Given the description of an element on the screen output the (x, y) to click on. 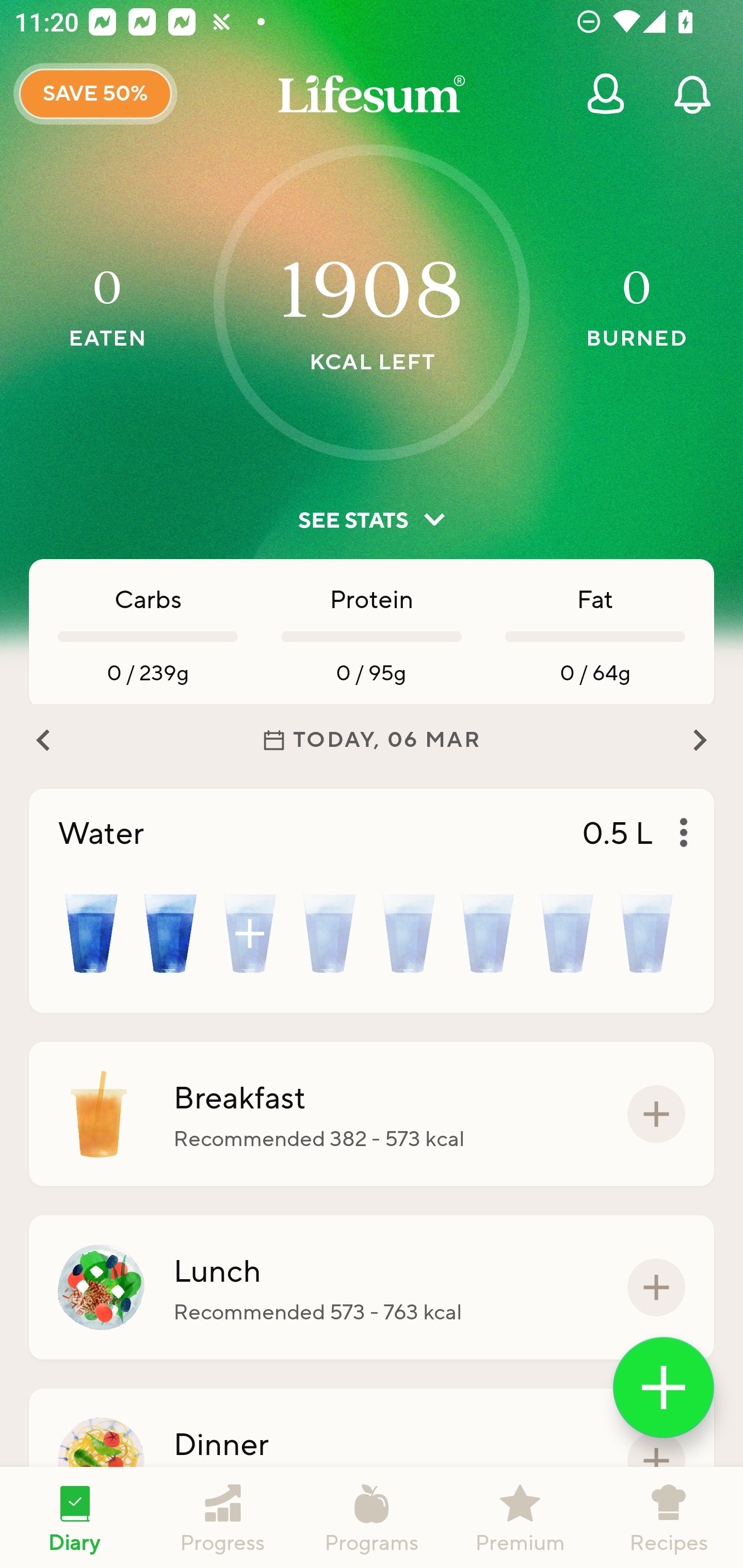
SEE STATS (371, 519)
TODAY, 06 MAR (371, 739)
Breakfast Recommended 382 - 573 kcal (371, 1113)
Lunch Recommended 573 - 763 kcal (371, 1287)
Dinner Recommended 573 - 763 kcal (371, 1461)
Progress (222, 1517)
Programs (371, 1517)
Premium (519, 1517)
Recipes (668, 1517)
